Given the description of an element on the screen output the (x, y) to click on. 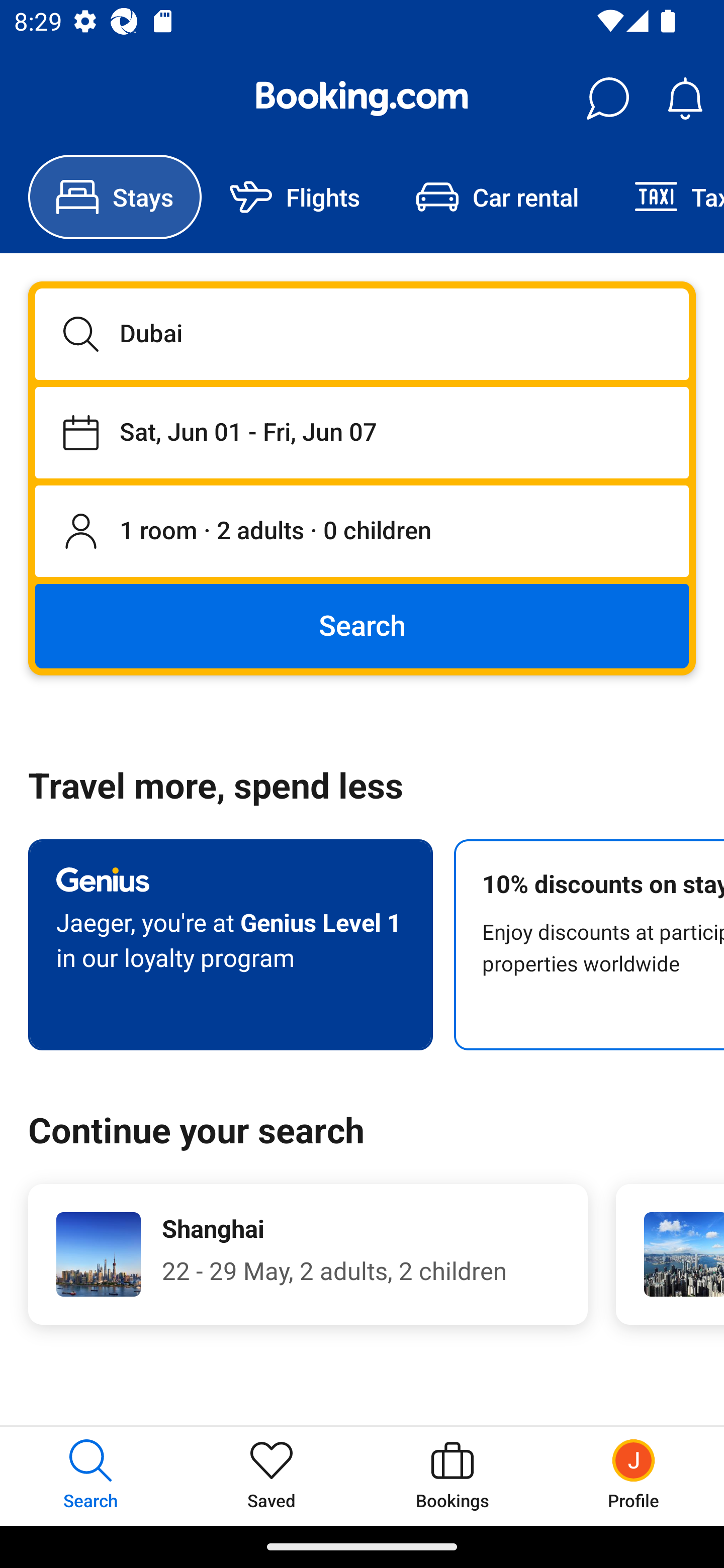
Messages (607, 98)
Notifications (685, 98)
Stays (114, 197)
Flights (294, 197)
Car rental (497, 197)
Taxi (665, 197)
Dubai (361, 333)
Staying from Sat, Jun 01 until Fri, Jun 07 (361, 432)
1 room, 2 adults, 0 children (361, 531)
Search (361, 625)
Shanghai 22 - 29 May, 2 adults, 2 children (307, 1253)
Saved (271, 1475)
Bookings (452, 1475)
Profile (633, 1475)
